Given the description of an element on the screen output the (x, y) to click on. 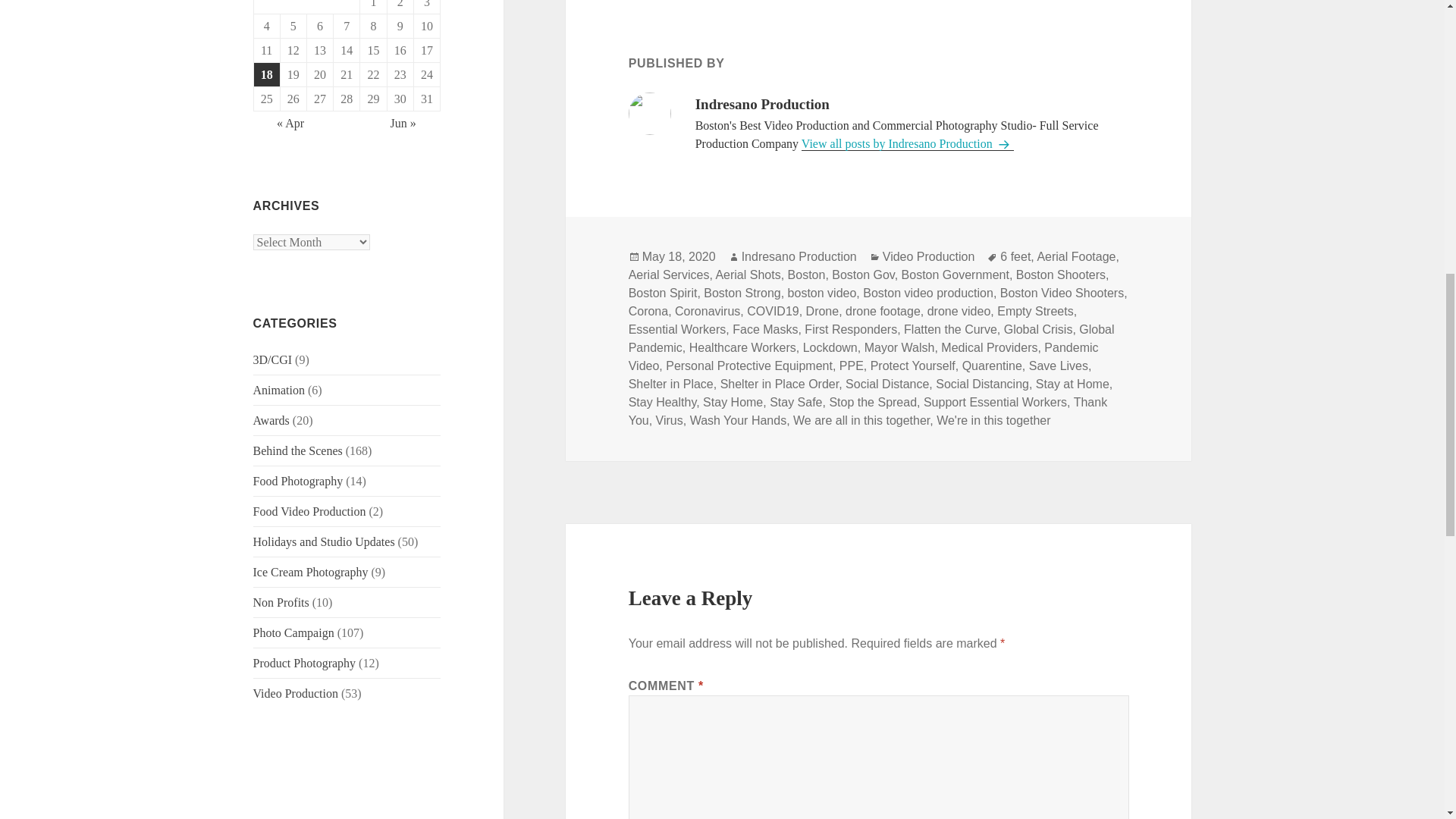
Food Video Production (309, 511)
Holidays and Studio Updates (323, 541)
Video Production (928, 256)
Aerial Services (669, 274)
Product Photography (304, 662)
Boston Gov (862, 274)
Behind the Scenes (297, 450)
Boston (806, 274)
Food Photography (298, 481)
Boston Government (955, 274)
Aerial Footage (1075, 256)
Awards (271, 420)
Non Profits (280, 602)
Boston Shooters (1060, 274)
Indresano Production (799, 256)
